Given the description of an element on the screen output the (x, y) to click on. 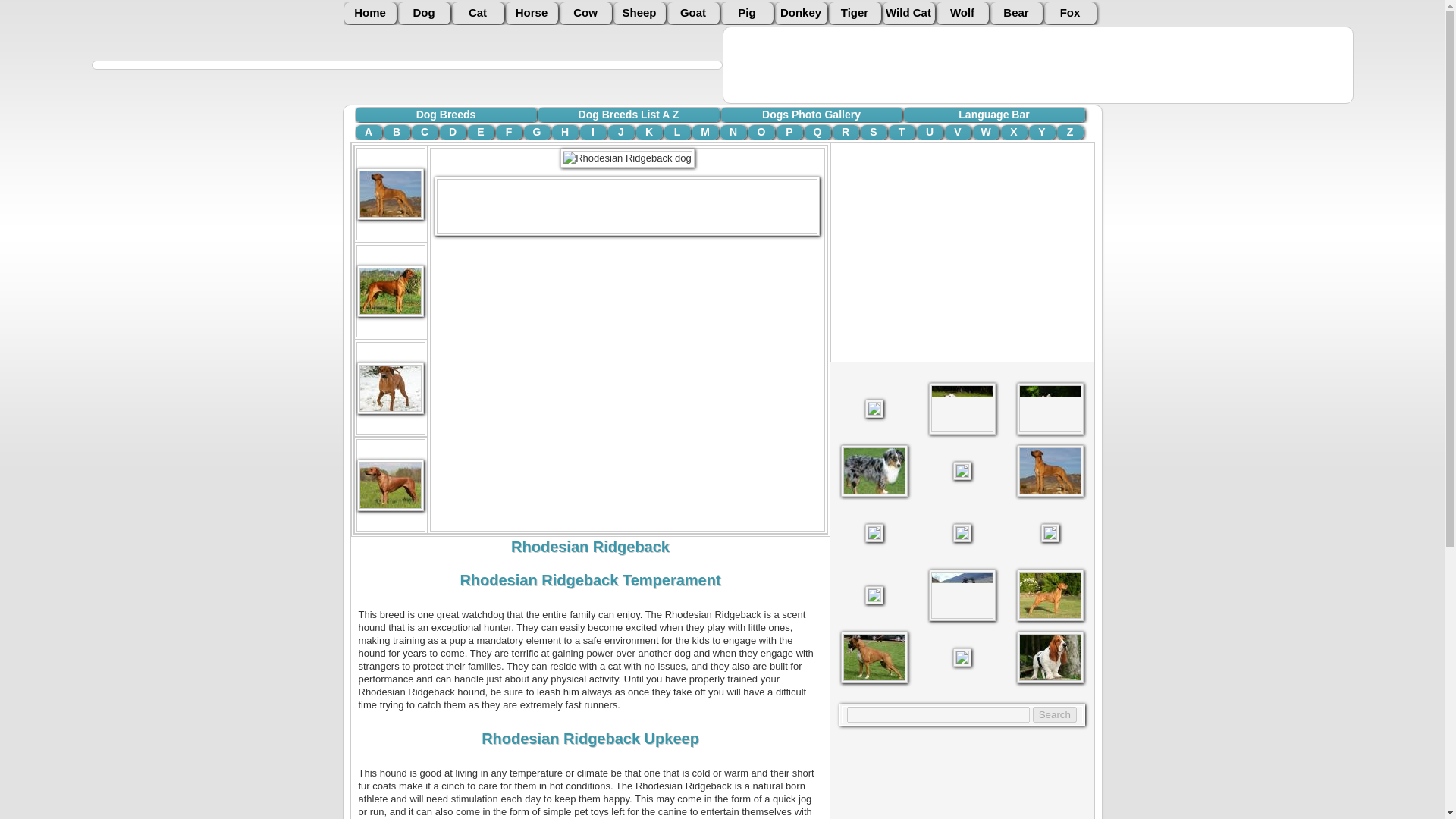
V (957, 132)
M (704, 132)
C (424, 132)
Dog Breeds (445, 114)
Q (816, 132)
Cat (477, 13)
Donkey (800, 13)
Dog Breeds List A Z (628, 114)
Wild Cat (908, 13)
Dog (423, 13)
